Given the description of an element on the screen output the (x, y) to click on. 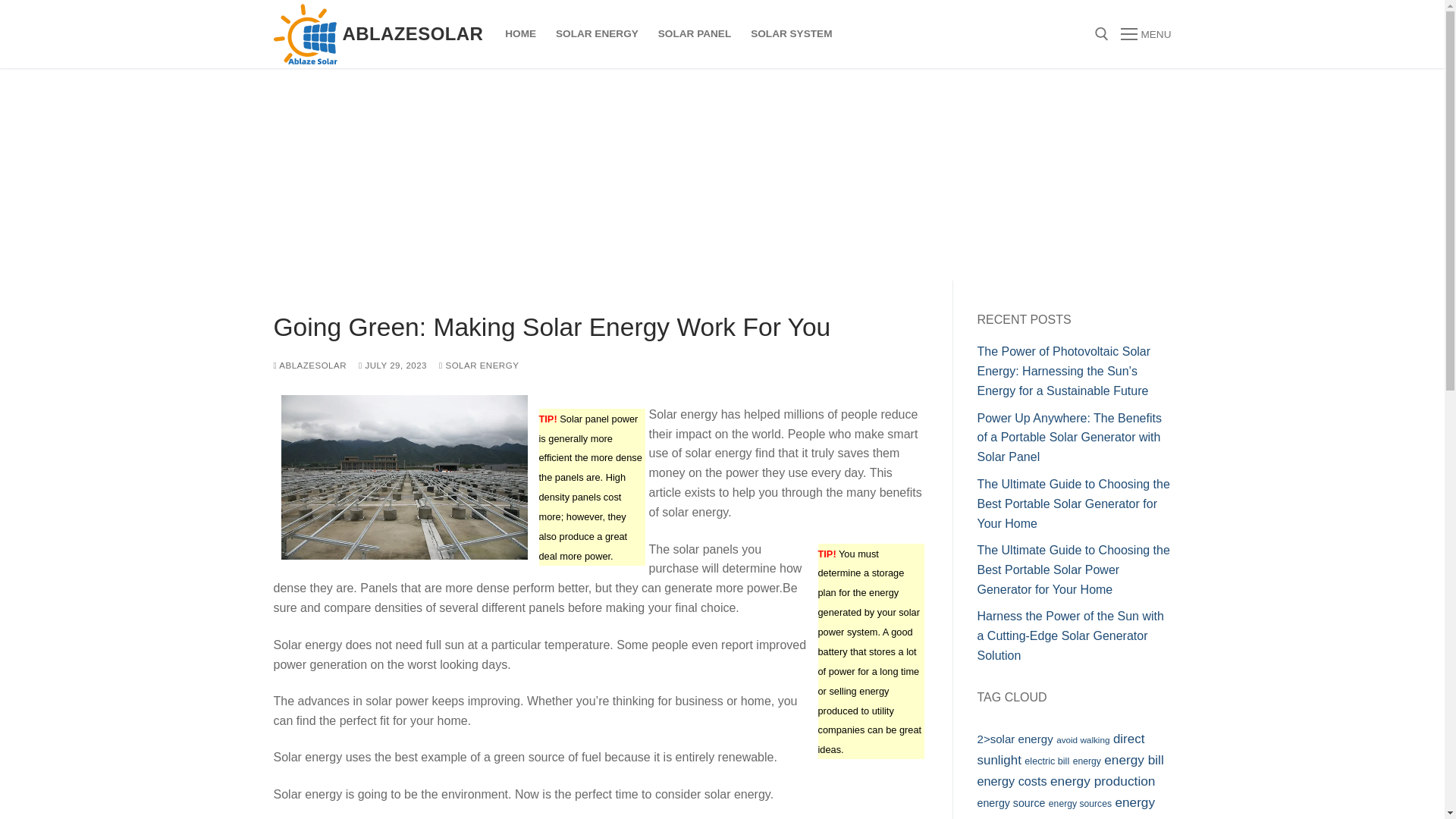
MENU (1145, 34)
SOLAR PANEL (694, 33)
ABLAZESOLAR (412, 33)
SOLAR ENERGY (596, 33)
JULY 29, 2023 (392, 365)
SOLAR SYSTEM (791, 33)
SOLAR ENERGY (478, 365)
ABLAZESOLAR (309, 365)
HOME (520, 33)
